Given the description of an element on the screen output the (x, y) to click on. 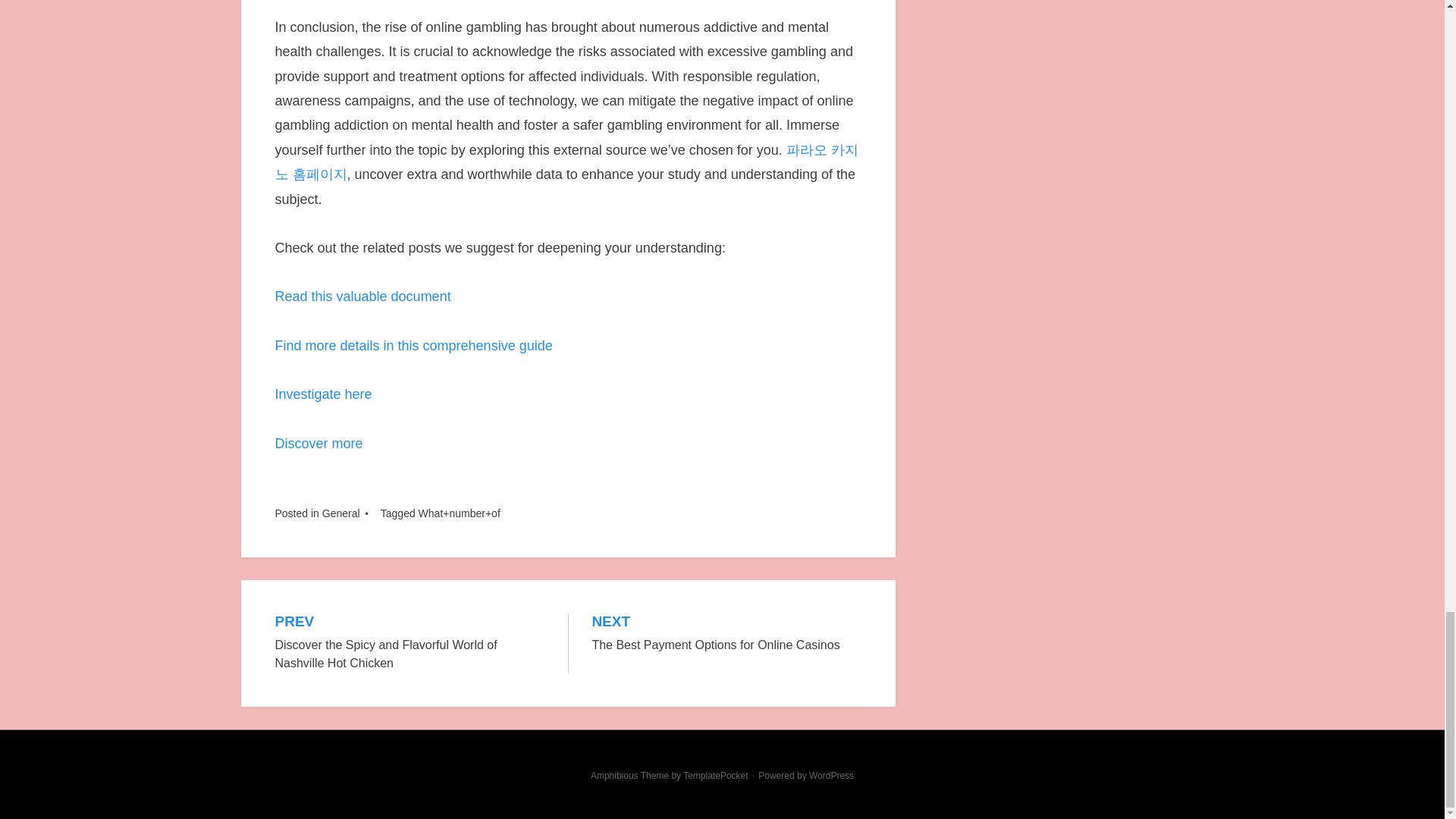
WordPress (726, 634)
WordPress (831, 775)
General (831, 775)
Read this valuable document (340, 512)
TemplatePocket (362, 296)
TemplatePocket (715, 775)
Investigate here (715, 775)
Find more details in this comprehensive guide (323, 394)
Discover more (413, 345)
